Given the description of an element on the screen output the (x, y) to click on. 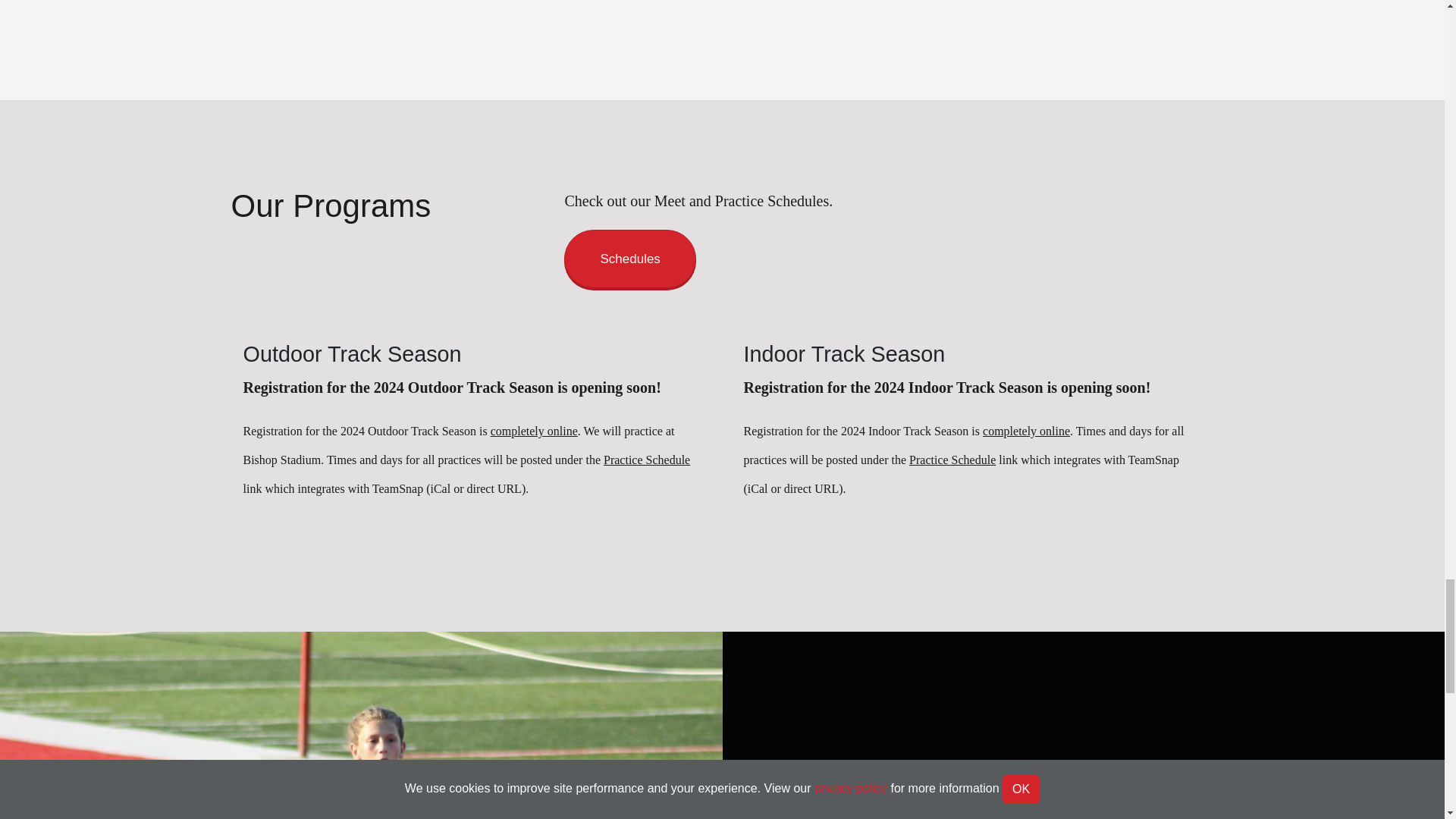
Indoor Track Registration (1026, 431)
Practice Schedule (951, 459)
Practice Schedule (647, 459)
Outdoor Track Registration (534, 431)
